Given the description of an element on the screen output the (x, y) to click on. 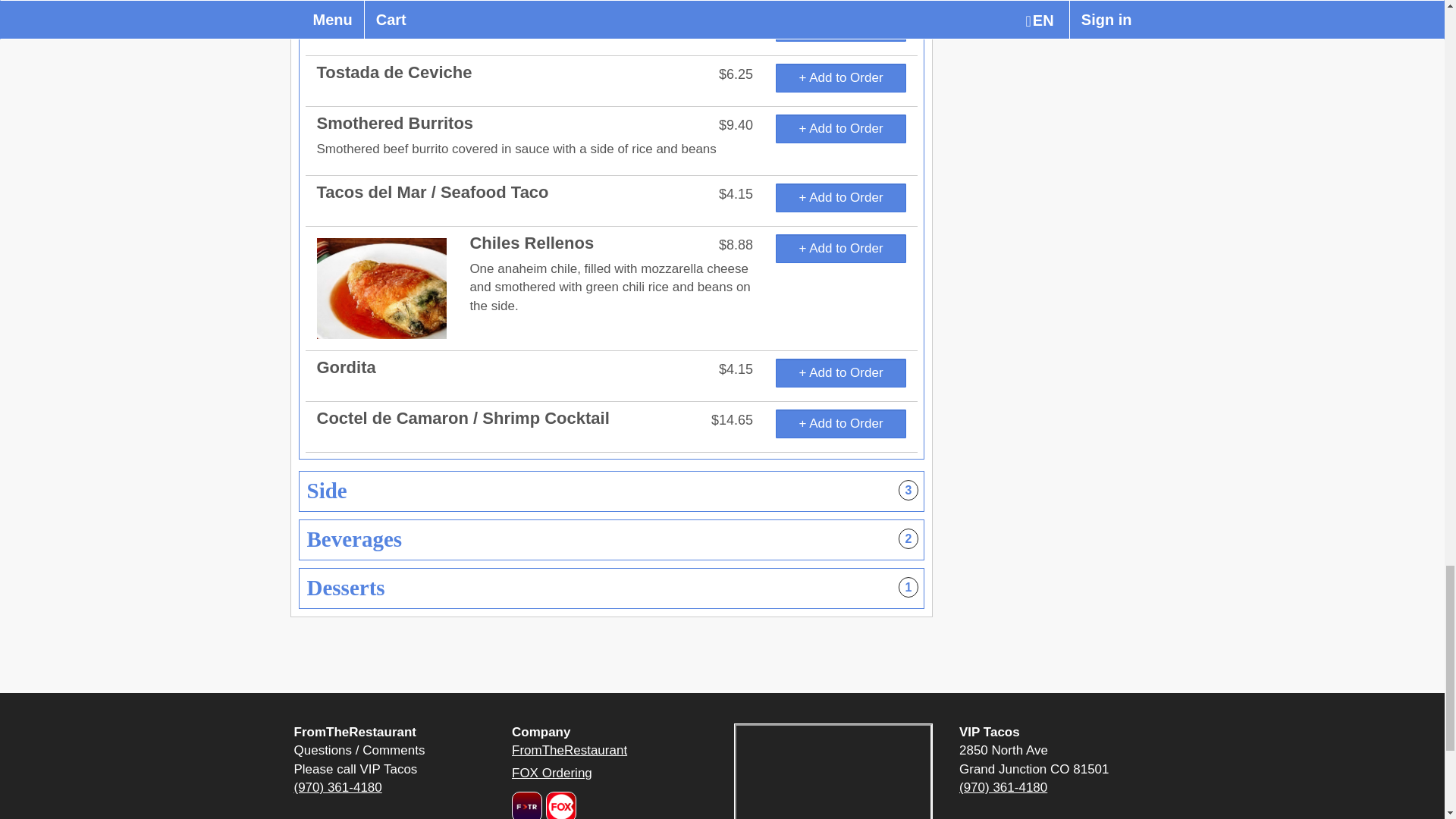
Google Maps (832, 771)
